Given the description of an element on the screen output the (x, y) to click on. 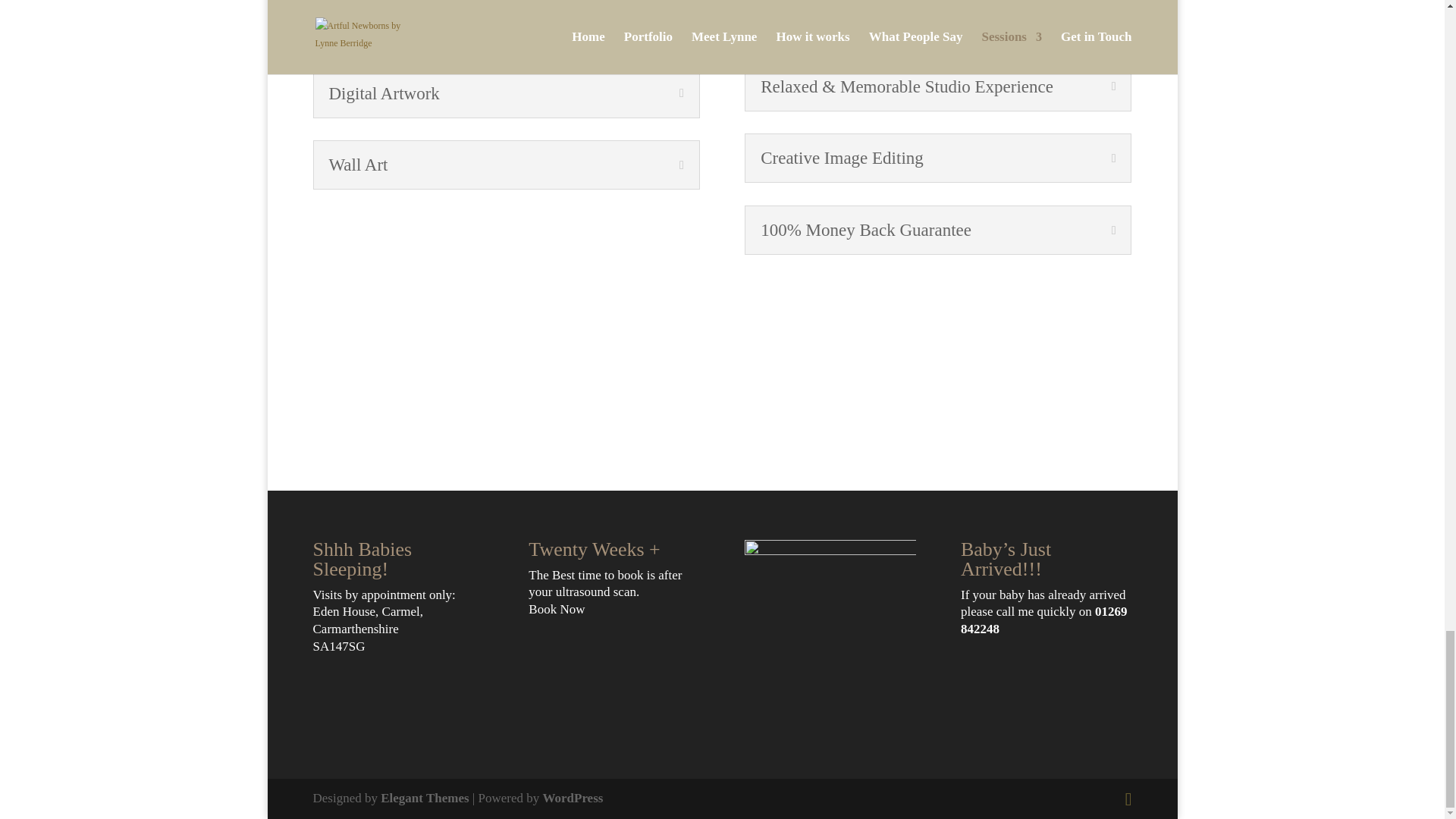
Premium WordPress Themes (424, 798)
Elegant Themes (424, 798)
WordPress (571, 798)
Book Now (556, 608)
